Given the description of an element on the screen output the (x, y) to click on. 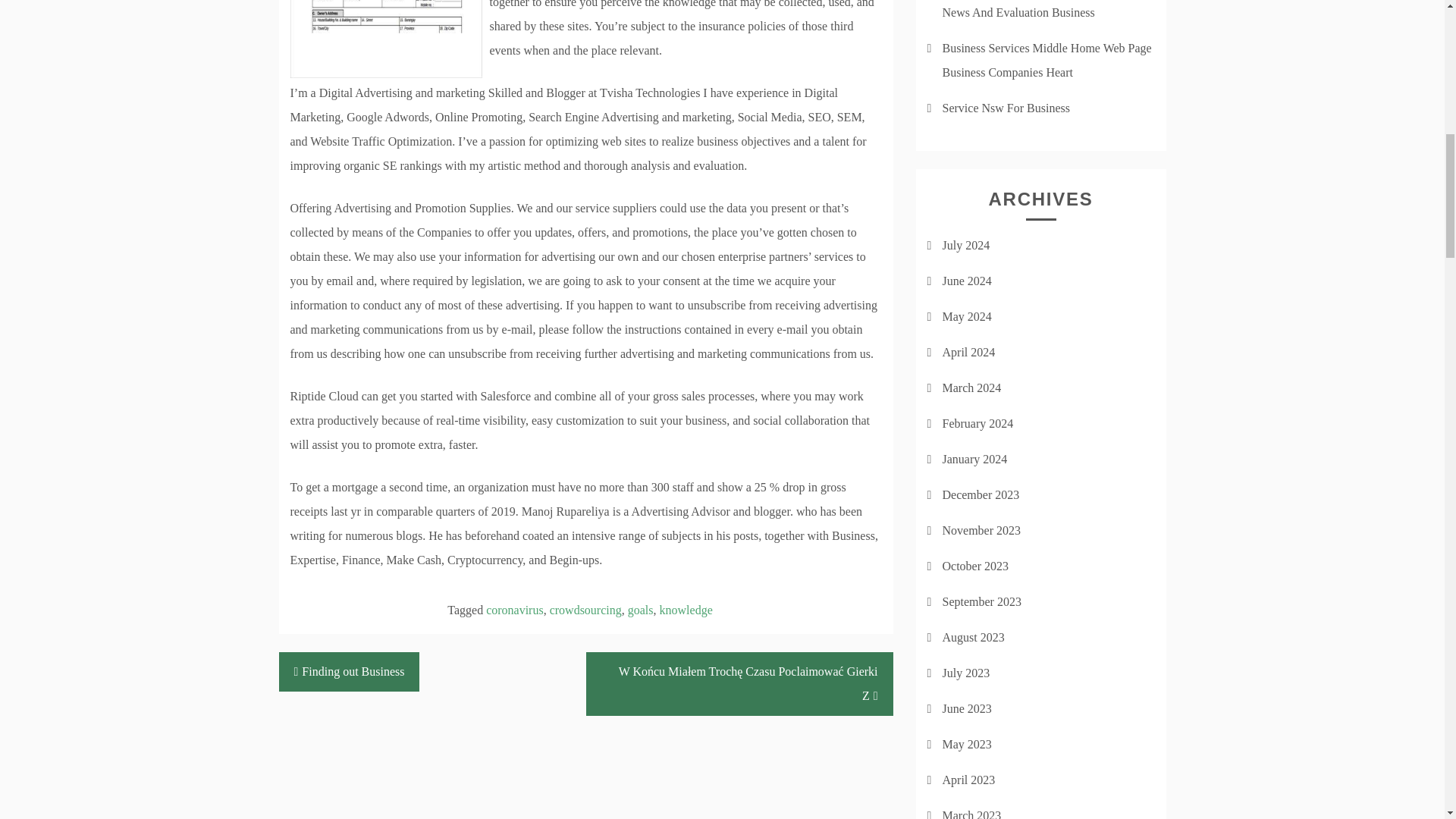
crowdsourcing (585, 609)
June 2024 (966, 280)
July 2023 (966, 672)
April 2024 (968, 351)
October 2023 (975, 565)
February 2024 (977, 422)
Service Nsw For Business (1005, 107)
July 2024 (966, 245)
June 2023 (966, 707)
May 2024 (966, 316)
September 2023 (981, 601)
January 2024 (974, 459)
Finding out Business (349, 671)
goals (640, 609)
